Given the description of an element on the screen output the (x, y) to click on. 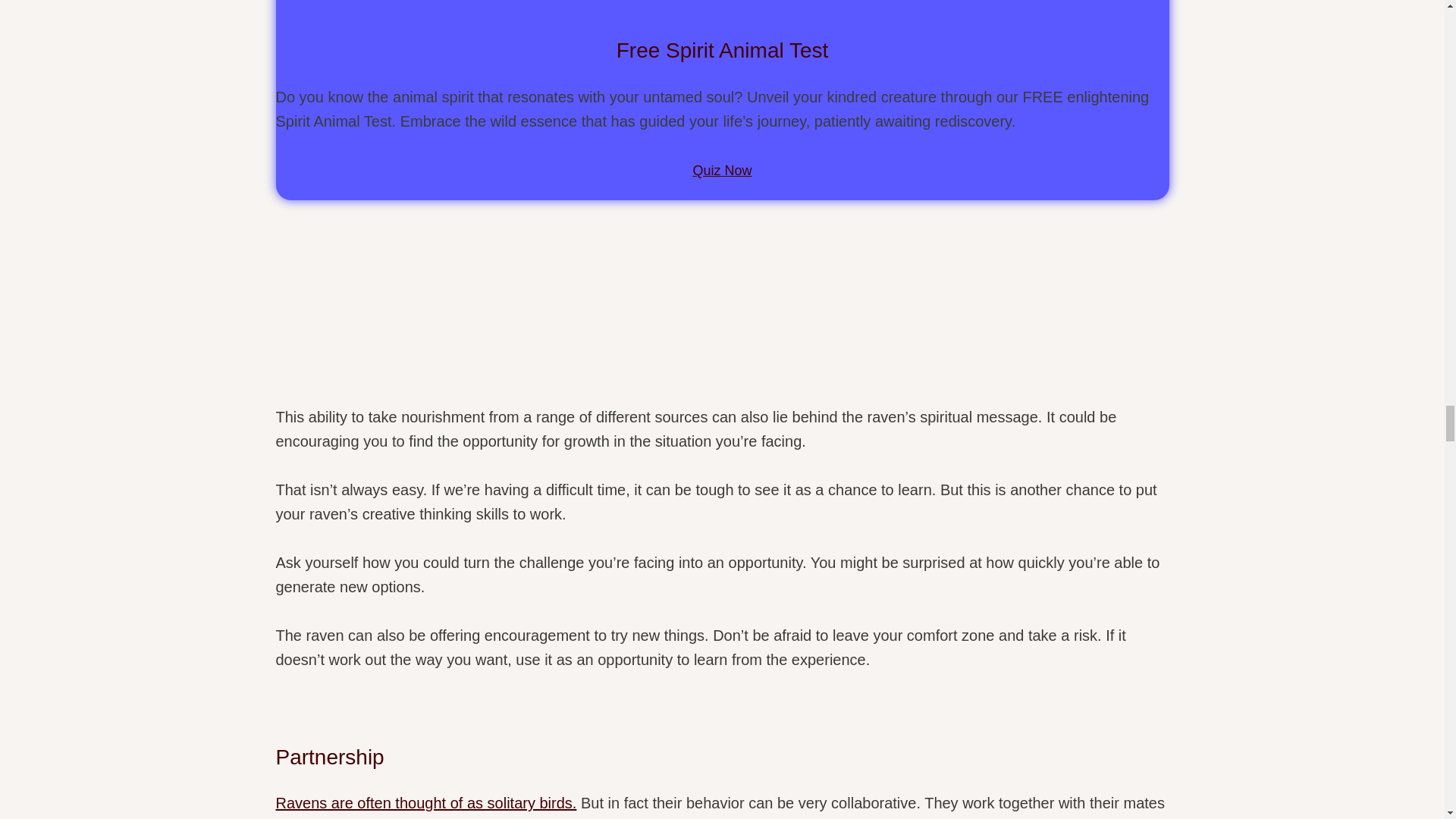
Ravens are often thought of as solitary birds. (426, 802)
Quiz Now (721, 170)
